Given the description of an element on the screen output the (x, y) to click on. 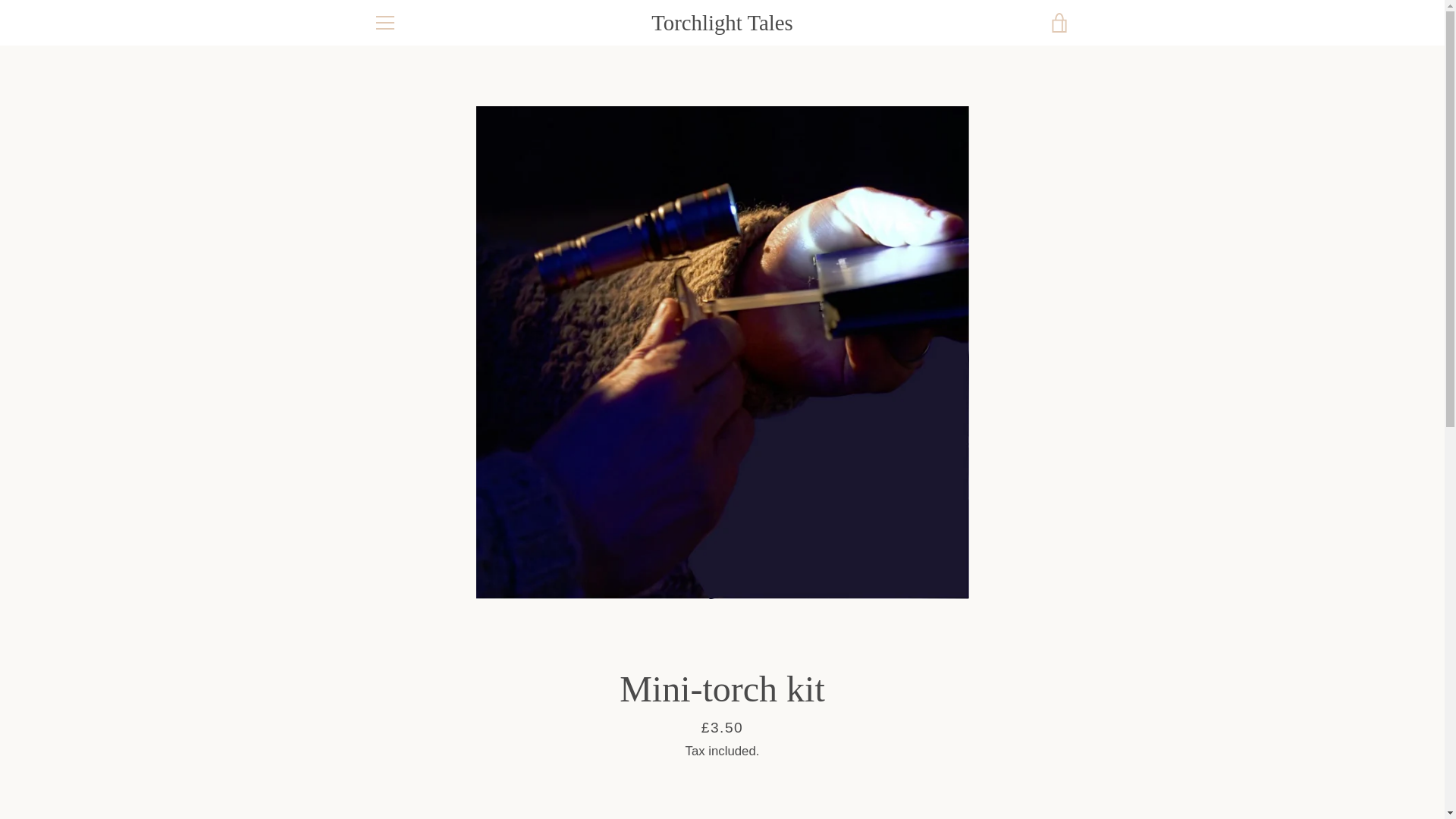
Visa (1057, 778)
MENU (384, 22)
Discover (988, 754)
Google Pay (1022, 754)
Torchlight Tales (721, 22)
Apple Pay (918, 754)
PayPal (953, 778)
VIEW CART (1059, 22)
Diners Club (953, 754)
Union Pay (1022, 778)
SEARCH (397, 573)
Powered by Shopify (766, 765)
American Express (883, 754)
Torchlight Tales (744, 753)
Shop Pay (988, 778)
